Given the description of an element on the screen output the (x, y) to click on. 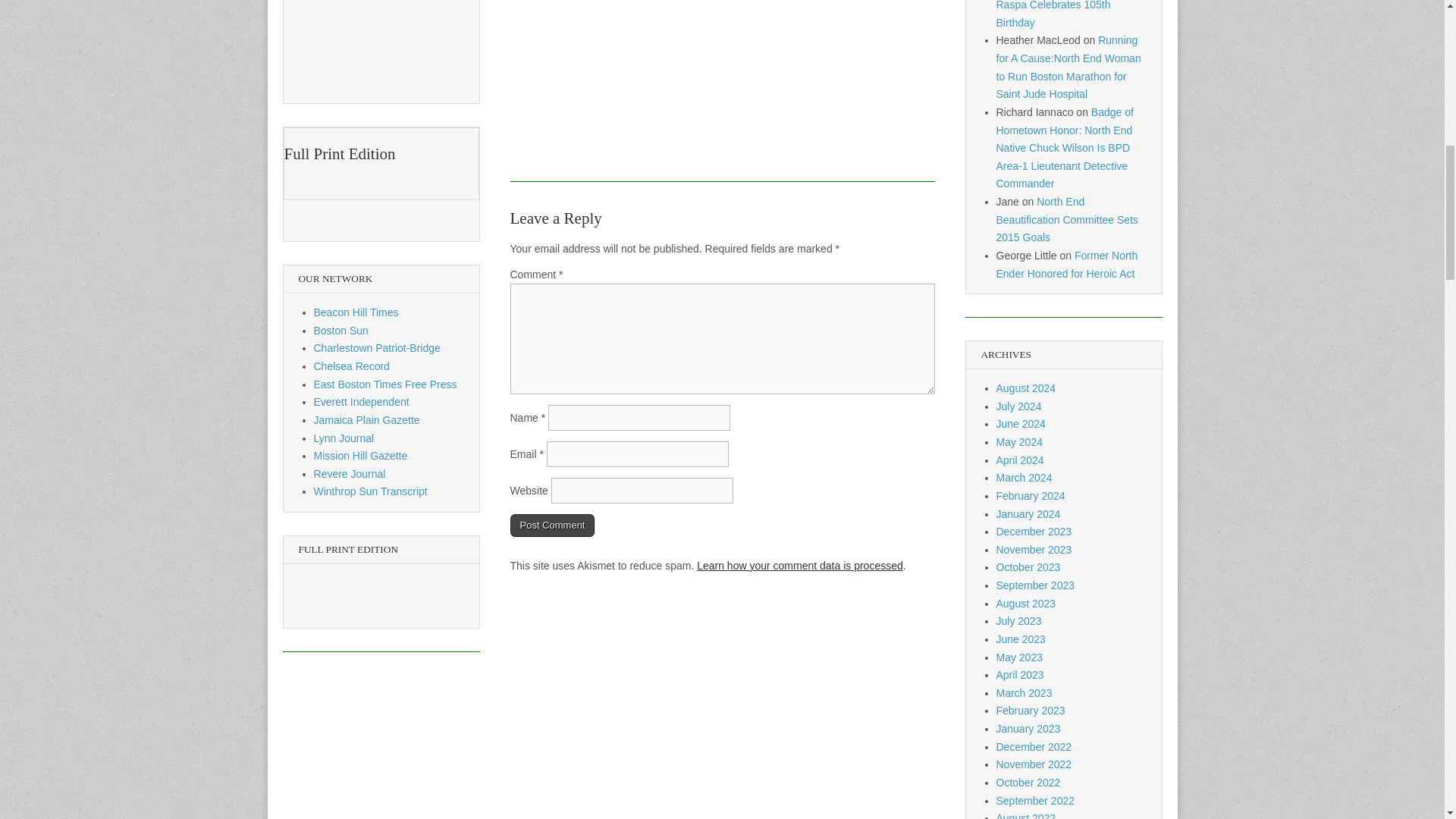
Lynn Journal (344, 438)
Learn how your comment data is processed (799, 565)
Beacon Hill Times (356, 312)
Jamaica Plain Gazette (367, 419)
Post Comment (551, 525)
Everett Independent (361, 401)
East Boston Times Free Press (385, 384)
Chelsea Record (352, 366)
Boston Sun (341, 330)
Advertisement (721, 90)
